Given the description of an element on the screen output the (x, y) to click on. 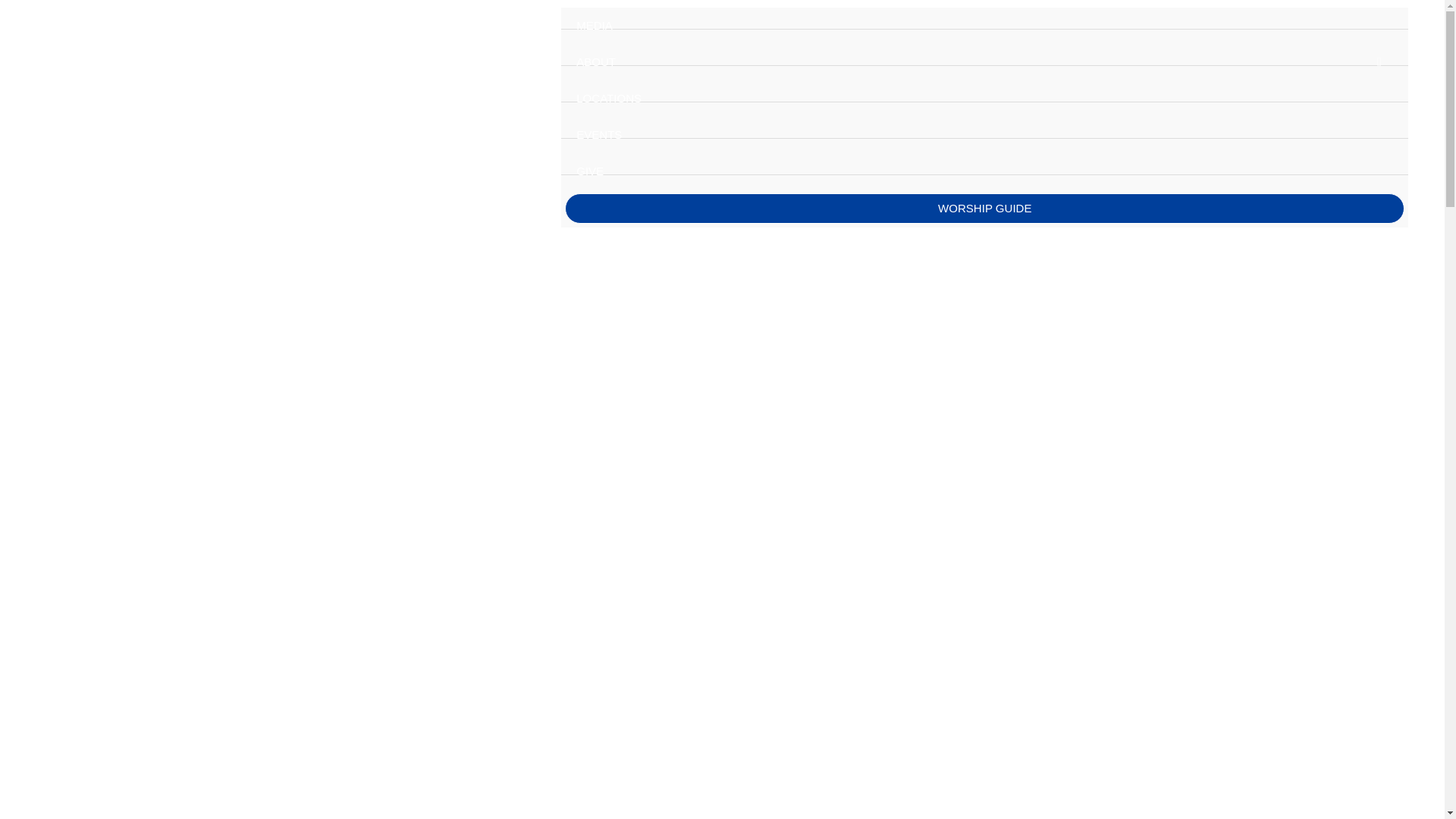
LOCATIONS (1350, 268)
